Given the description of an element on the screen output the (x, y) to click on. 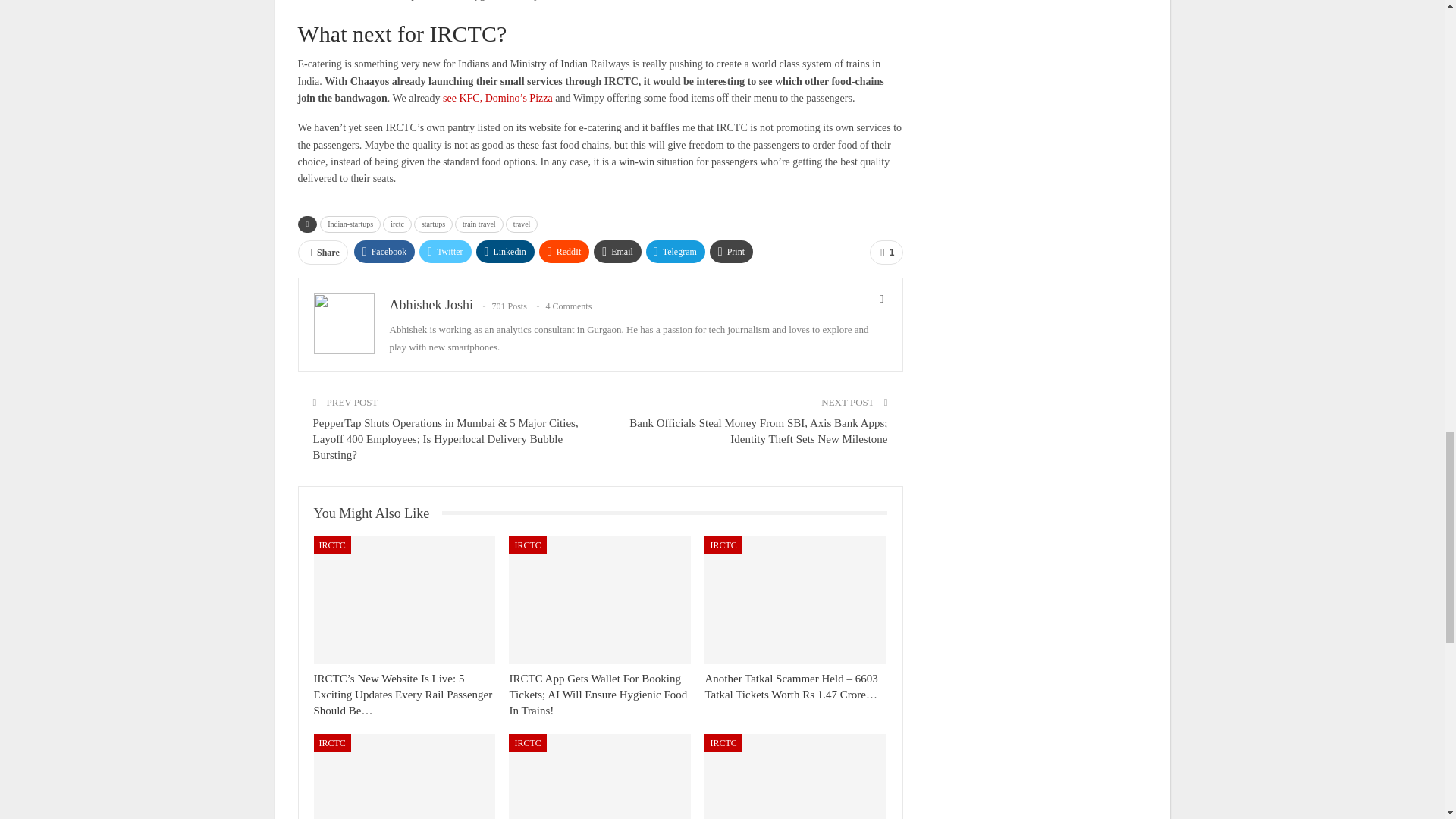
see KFC, (461, 98)
see KFC, (461, 98)
Indian-startups (350, 224)
